Given the description of an element on the screen output the (x, y) to click on. 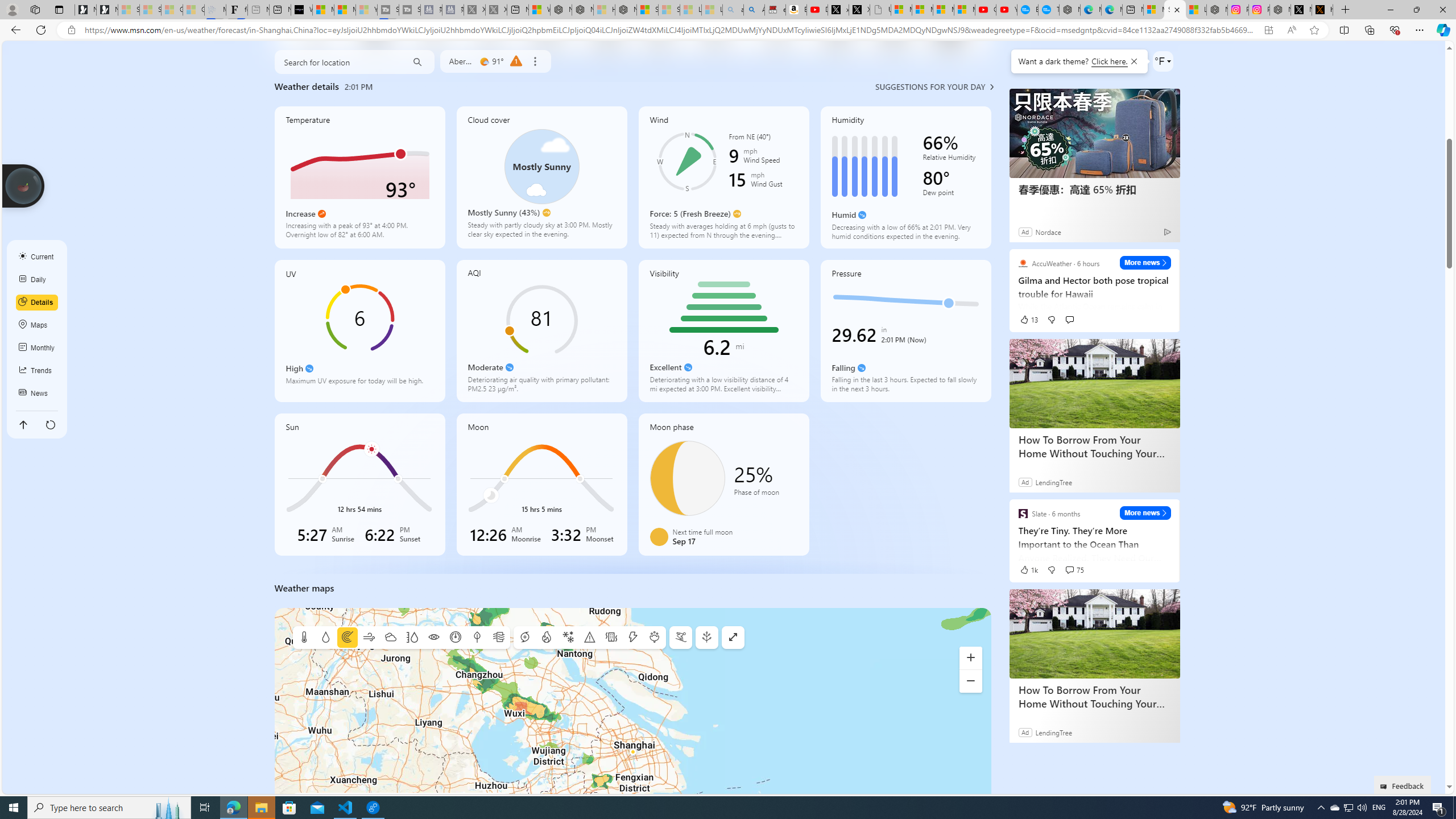
Monthly (37, 347)
Visibility (723, 330)
Back to top (23, 424)
Lightning (632, 637)
Pollen (654, 637)
Wind (369, 637)
LendingTree (1053, 732)
AQI (541, 330)
Humidity (411, 637)
